Given the description of an element on the screen output the (x, y) to click on. 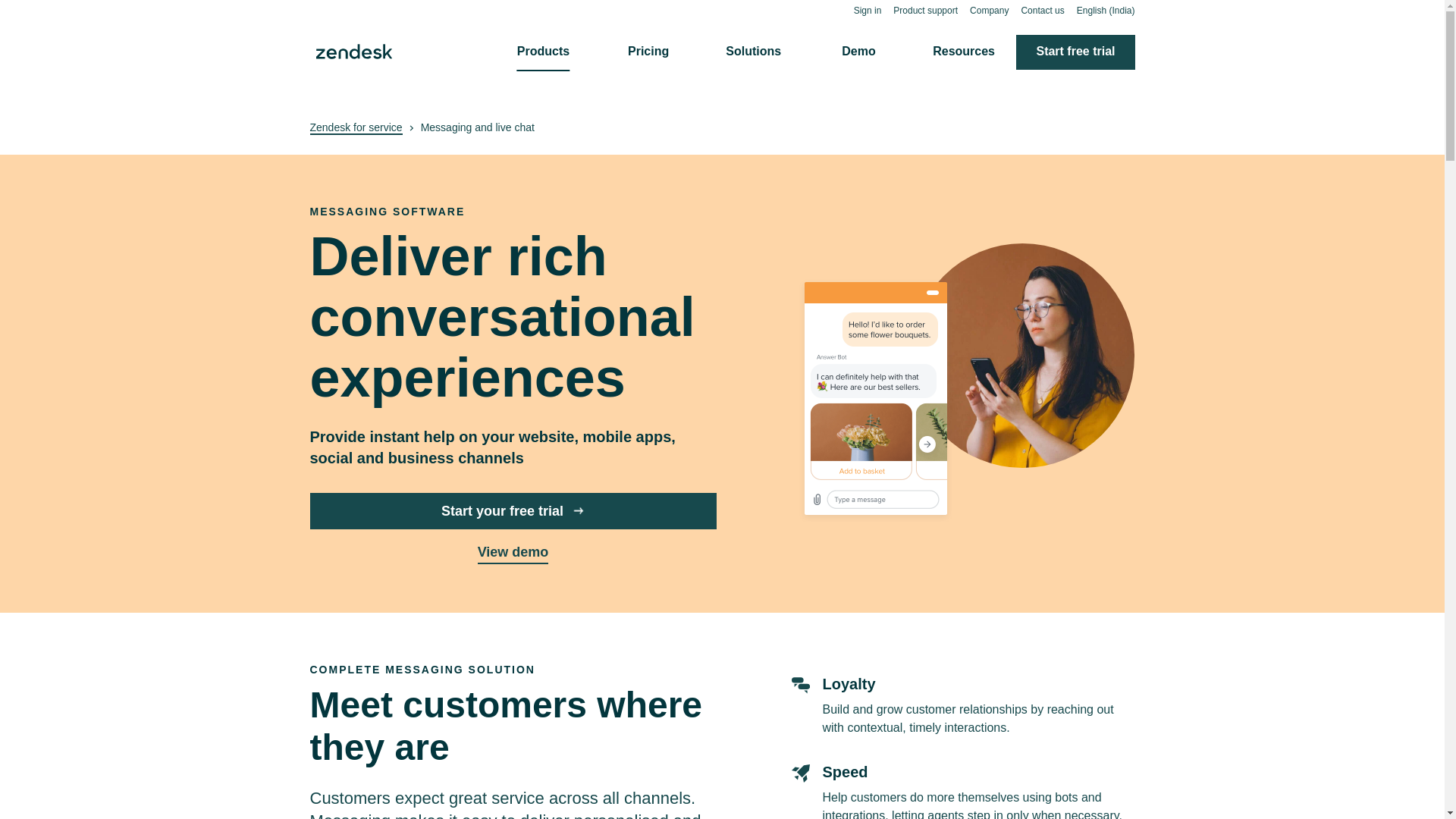
Company (989, 9)
Product support (925, 9)
Sign in (867, 9)
Contact us (1042, 9)
